Given the description of an element on the screen output the (x, y) to click on. 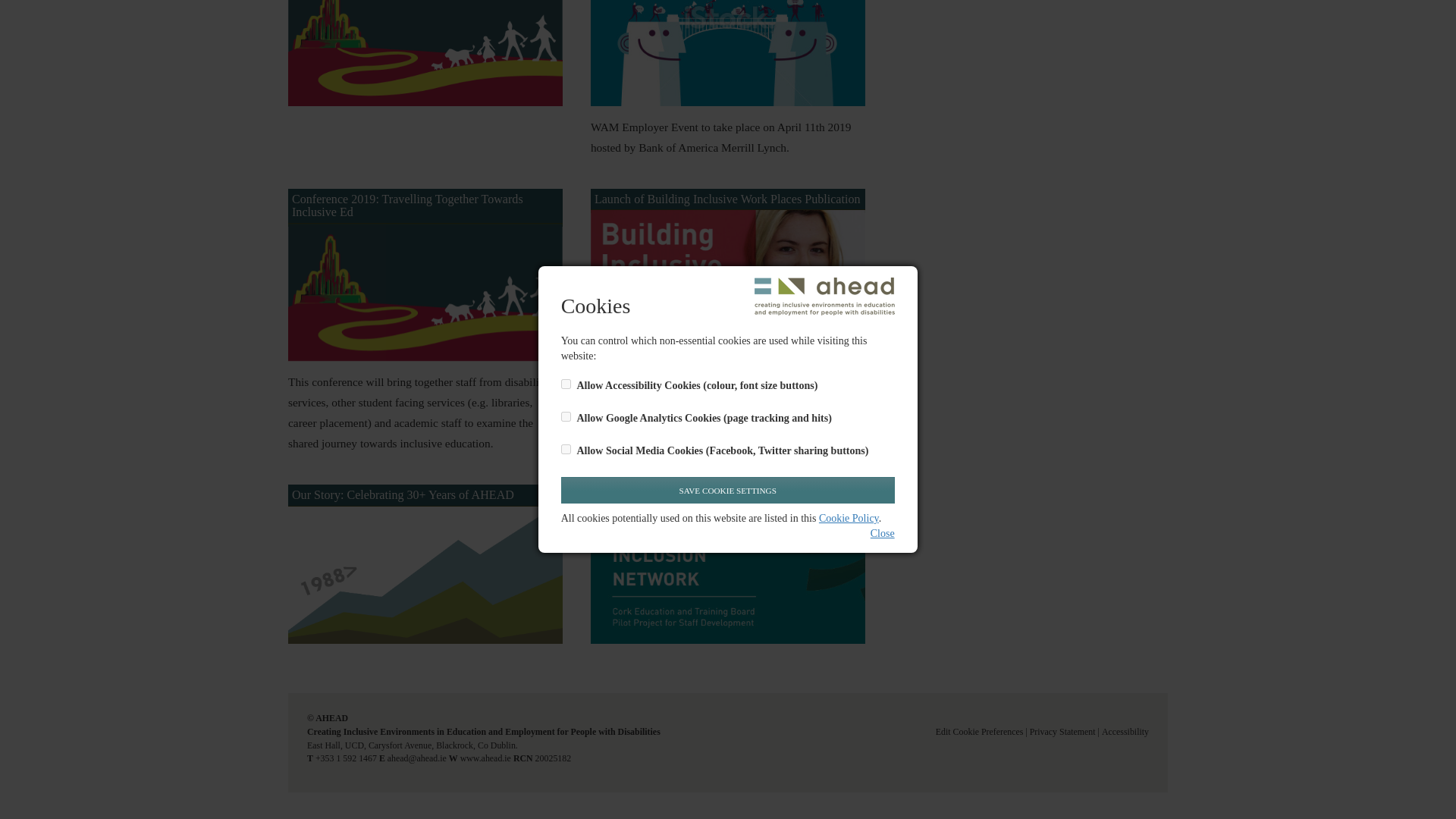
Conference 2019: Key Vids Now Available (425, 53)
WAM Event: Making the Mainstream Inclusive (727, 53)
